Given the description of an element on the screen output the (x, y) to click on. 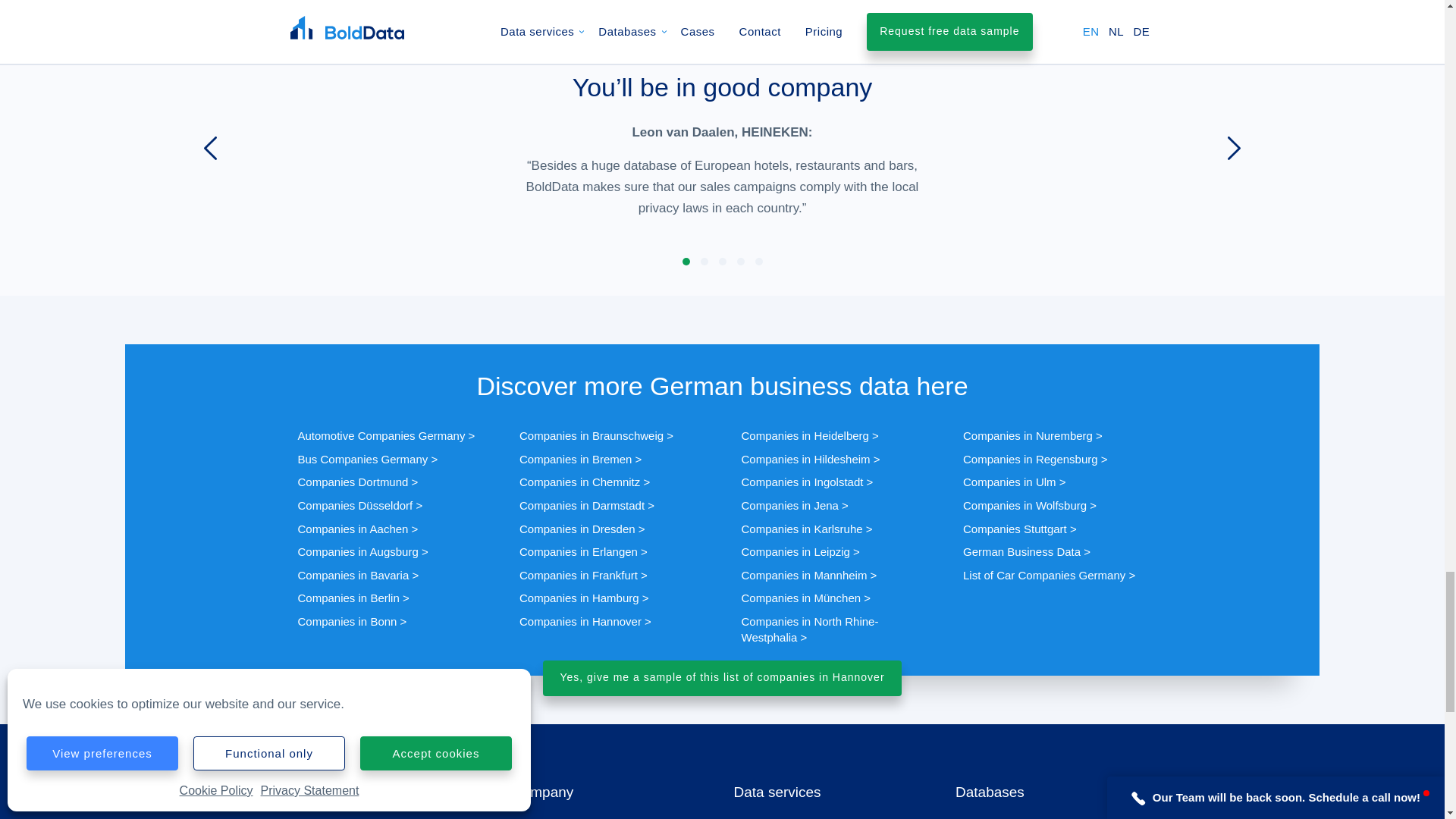
BoldData logo (334, 789)
